Given the description of an element on the screen output the (x, y) to click on. 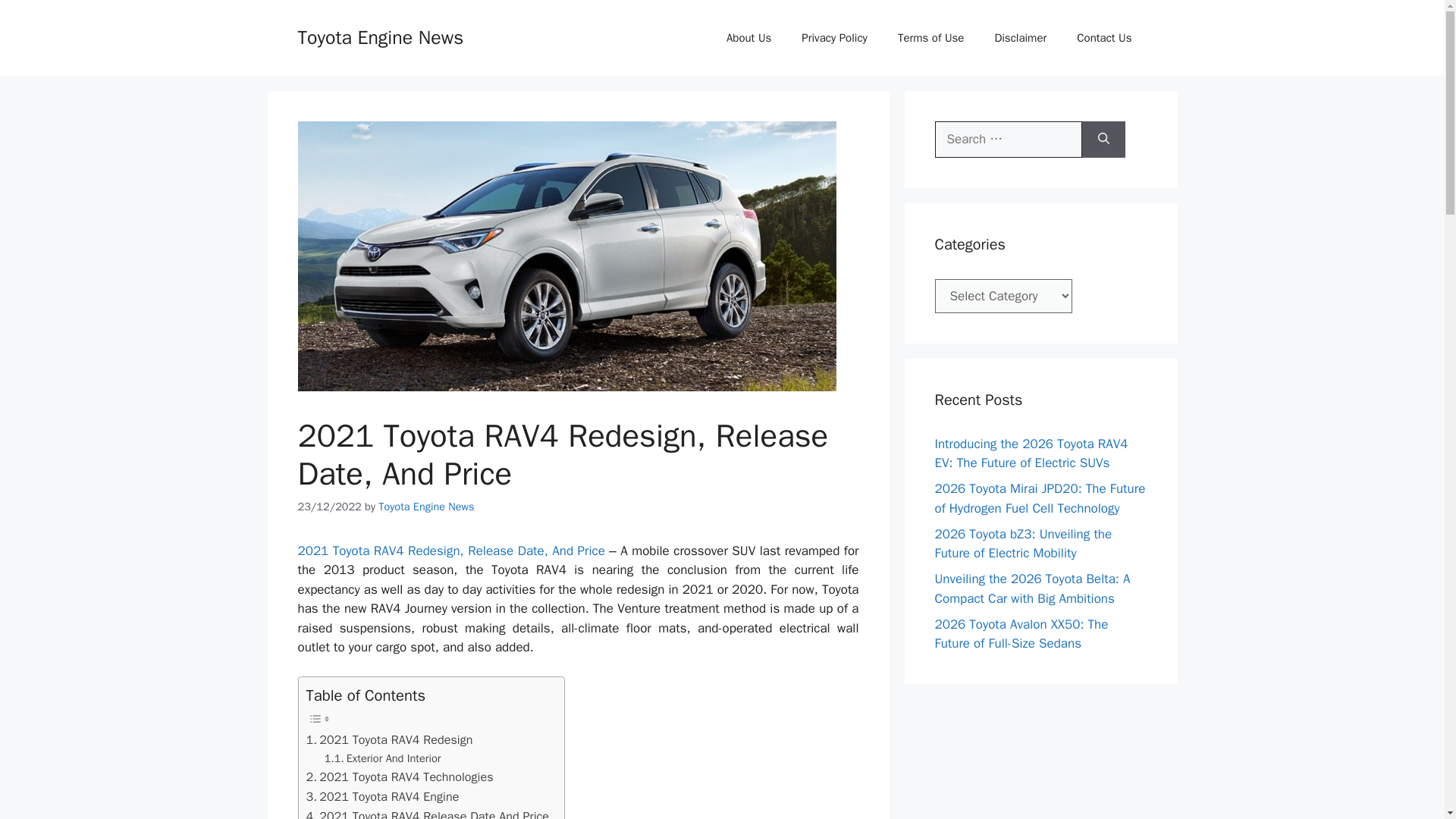
2021 Toyota RAV4 Redesign, Release Date, And Price (450, 550)
Privacy Policy (834, 37)
2021 Toyota RAV4 Release Date And Price (427, 812)
View all posts by Toyota Engine News (426, 506)
Exterior And Interior (382, 758)
About Us (748, 37)
2021 Toyota RAV4 Engine (382, 796)
Search for: (1007, 139)
2021 Toyota RAV4 Redesign (389, 740)
Contact Us (1104, 37)
